Given the description of an element on the screen output the (x, y) to click on. 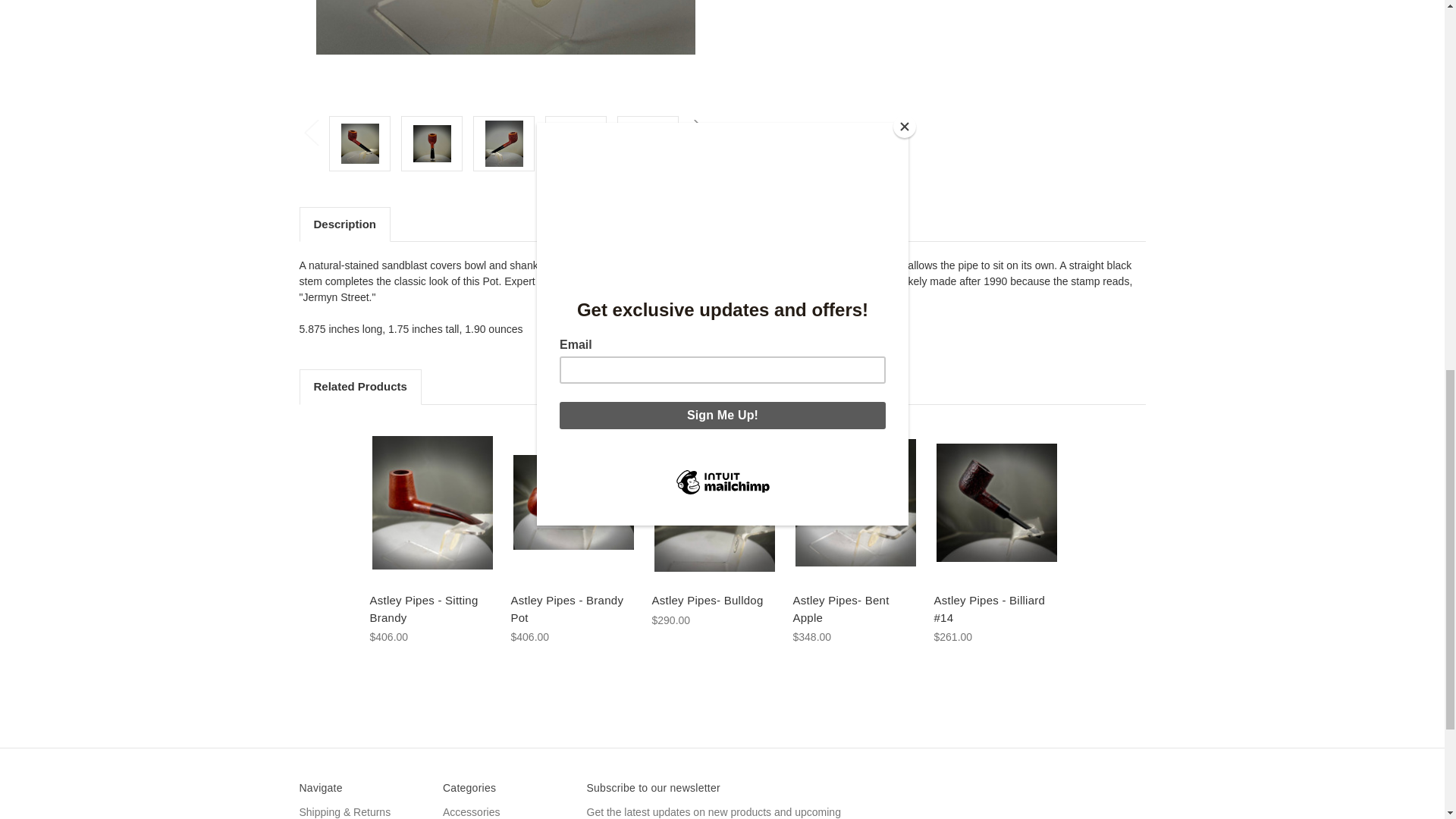
Astley Pipes - Sitting Pot (432, 142)
Astley Pipes - Sitting Pot (576, 142)
Astley Pipes - Sitting Pot (503, 142)
Astley Pipes - Sitting Pot (647, 142)
Astley Pipes - Sitting Pot (359, 142)
Astley Pipes - Sitting Brandy (431, 502)
Astley Pipes - Brandy Pot (572, 502)
Astley Pipes - Sitting Pot (504, 52)
